Given the description of an element on the screen output the (x, y) to click on. 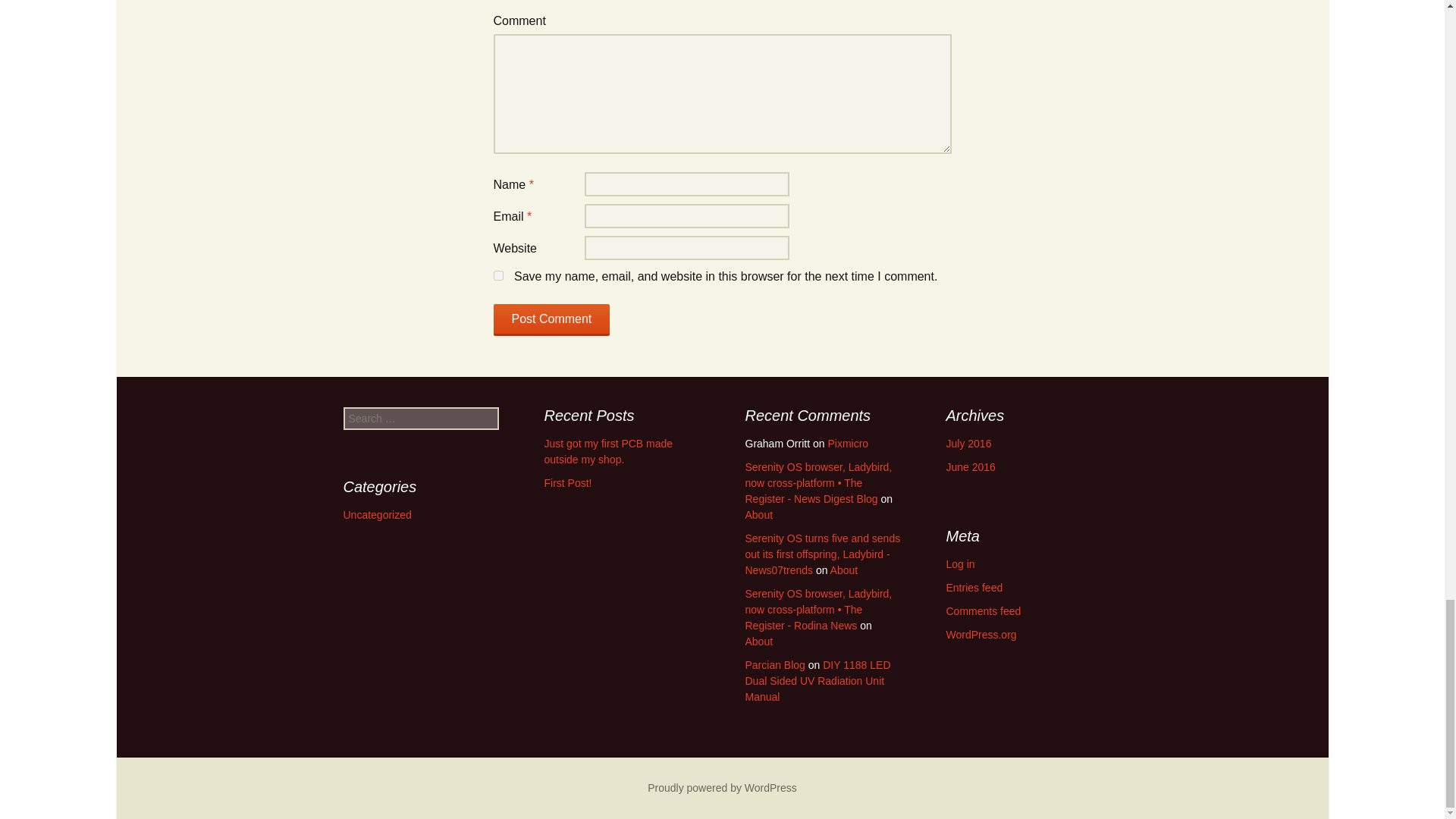
July 2016 (968, 443)
First Post! (568, 482)
Log in (960, 563)
About (758, 641)
Uncategorized (376, 514)
About (758, 514)
yes (497, 275)
Parcian Blog (774, 664)
Post Comment (551, 319)
